Given the description of an element on the screen output the (x, y) to click on. 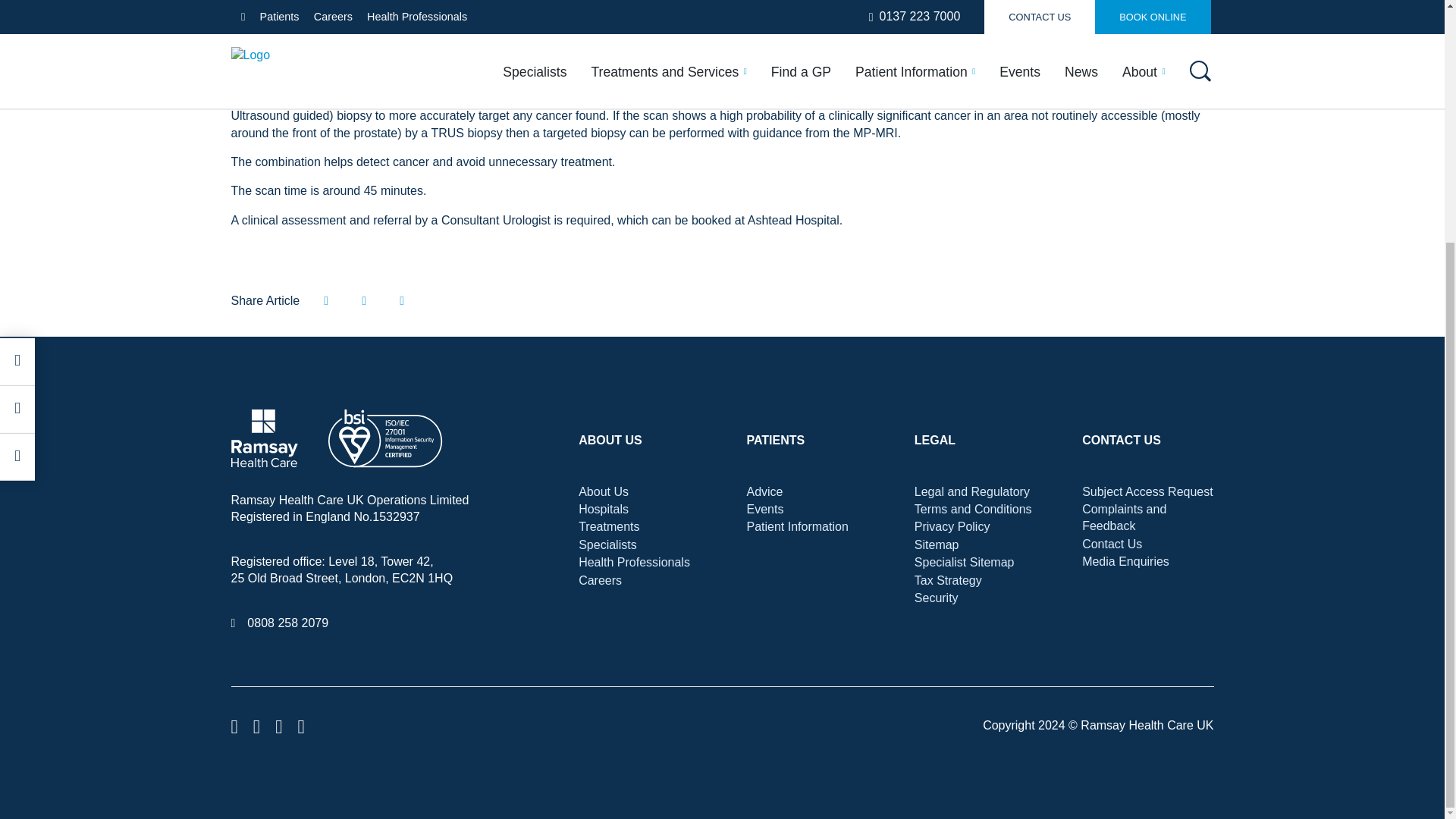
Share to Facebook (325, 300)
Share to LinkedIn (401, 300)
Ultrasound (1041, 6)
Removal of Wisdom Teeth (720, 10)
Rheumatology (487, 12)
Tooth Extraction (863, 10)
Physiotherapy (313, 12)
Share to Twitter (363, 300)
